Given the description of an element on the screen output the (x, y) to click on. 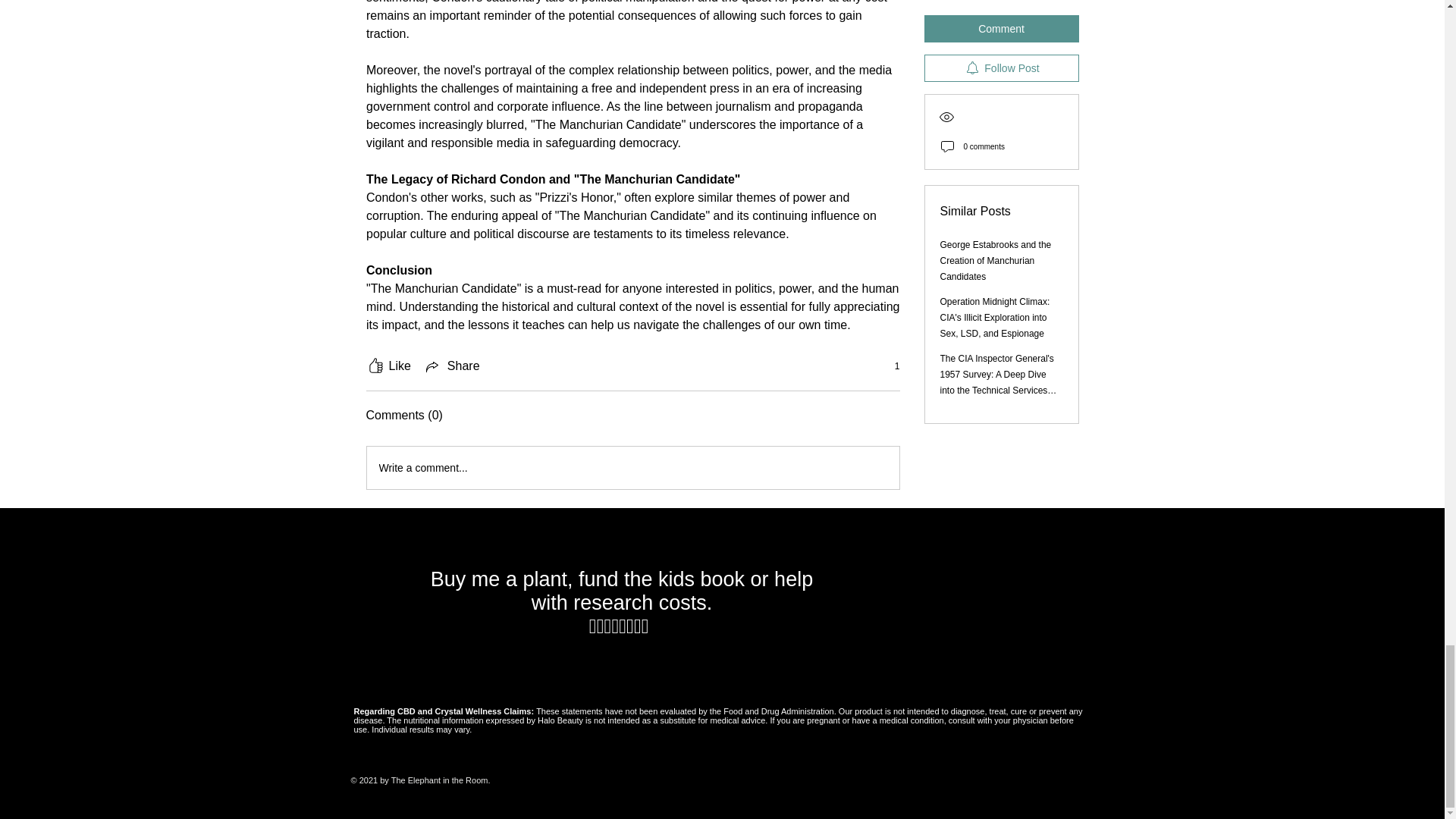
Like (387, 366)
Share (451, 366)
Write a comment... (632, 467)
1 (888, 366)
